Given the description of an element on the screen output the (x, y) to click on. 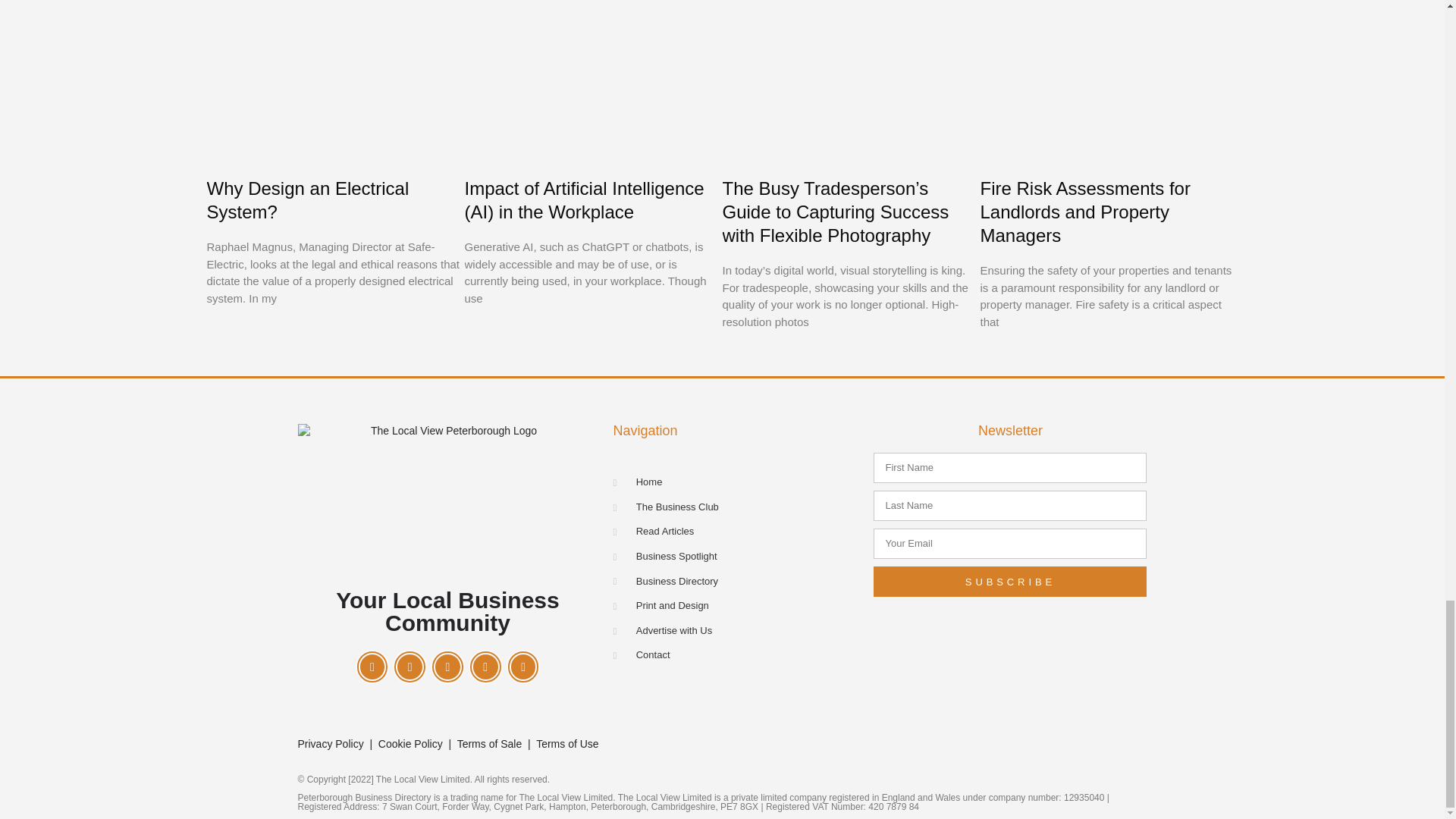
Fire Risk Assessments for Landlords and Property Managers (1084, 211)
Why Design an Electrical System? (307, 199)
